Given the description of an element on the screen output the (x, y) to click on. 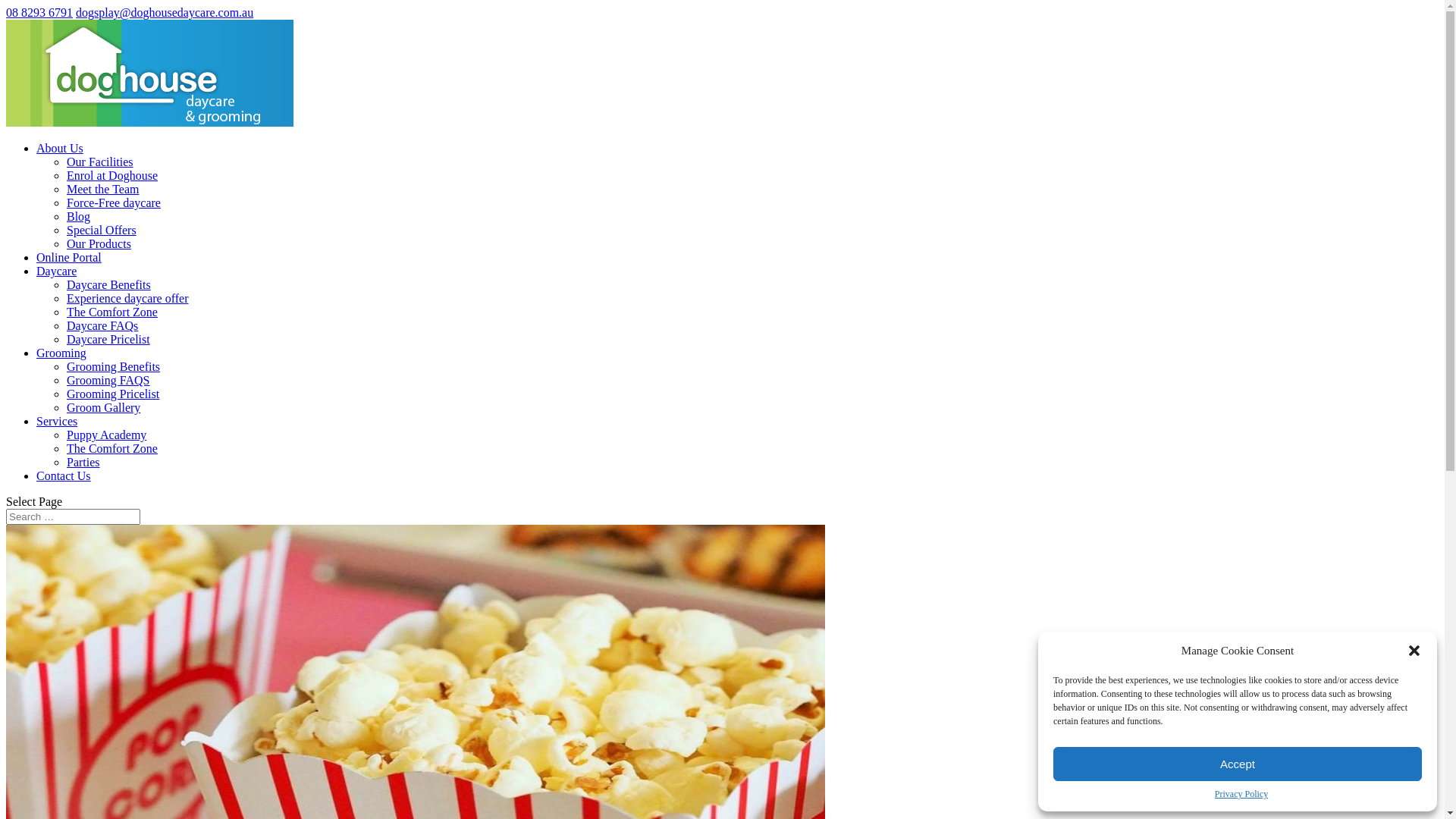
Services Element type: text (56, 420)
Accept Element type: text (1237, 763)
Our Products Element type: text (98, 243)
Grooming Pricelist Element type: text (112, 393)
Puppy Academy Element type: text (106, 434)
Grooming FAQS Element type: text (108, 379)
Force-Free daycare Element type: text (113, 202)
Grooming Element type: text (61, 352)
The Comfort Zone Element type: text (111, 311)
Groom Gallery Element type: text (103, 407)
Daycare Pricelist Element type: text (108, 338)
Daycare Benefits Element type: text (108, 284)
Daycare FAQs Element type: text (102, 325)
Daycare Element type: text (56, 270)
Enrol at Doghouse Element type: text (111, 175)
Grooming Benefits Element type: text (113, 366)
Contact Us Element type: text (63, 475)
Special Offers Element type: text (101, 229)
The Comfort Zone Element type: text (111, 448)
dogsplay@doghousedaycare.com.au Element type: text (164, 12)
Search for: Element type: hover (73, 516)
Parties Element type: text (83, 461)
Meet the Team Element type: text (102, 188)
Experience daycare offer Element type: text (127, 297)
Privacy Policy Element type: text (1240, 794)
Blog Element type: text (78, 216)
Our Facilities Element type: text (99, 161)
08 8293 6791 Element type: text (39, 12)
About Us Element type: text (59, 147)
Online Portal Element type: text (68, 257)
